Given the description of an element on the screen output the (x, y) to click on. 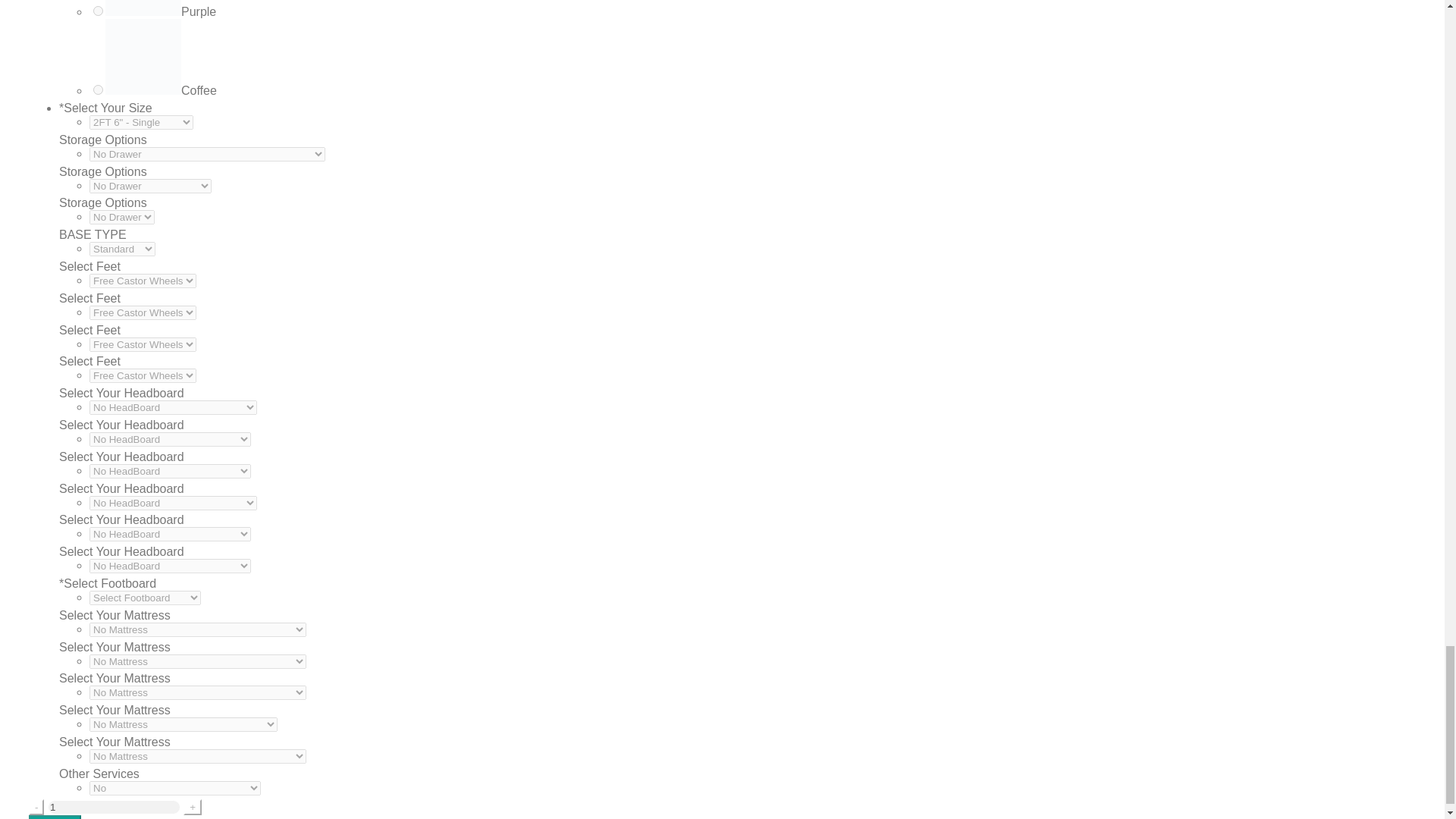
Qty (114, 806)
1 (114, 806)
- (36, 806)
